Given the description of an element on the screen output the (x, y) to click on. 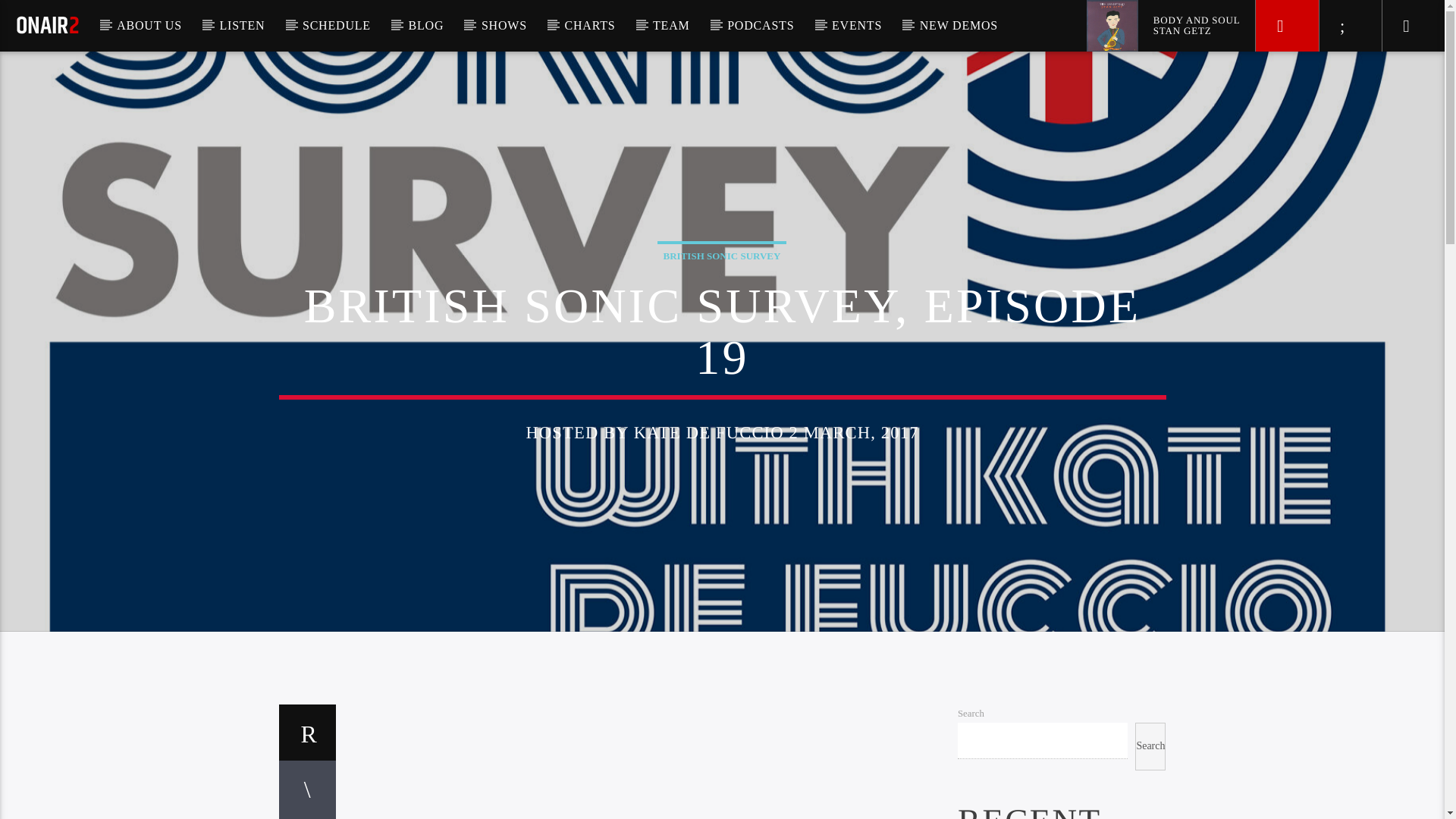
BLOG (426, 25)
PODCASTS (760, 25)
TEAM (671, 25)
LISTEN (242, 25)
CHARTS (589, 25)
ABOUT US (149, 25)
EVENTS (857, 25)
SHOWS (503, 25)
NEW DEMOS (958, 25)
SCHEDULE (336, 25)
